Given the description of an element on the screen output the (x, y) to click on. 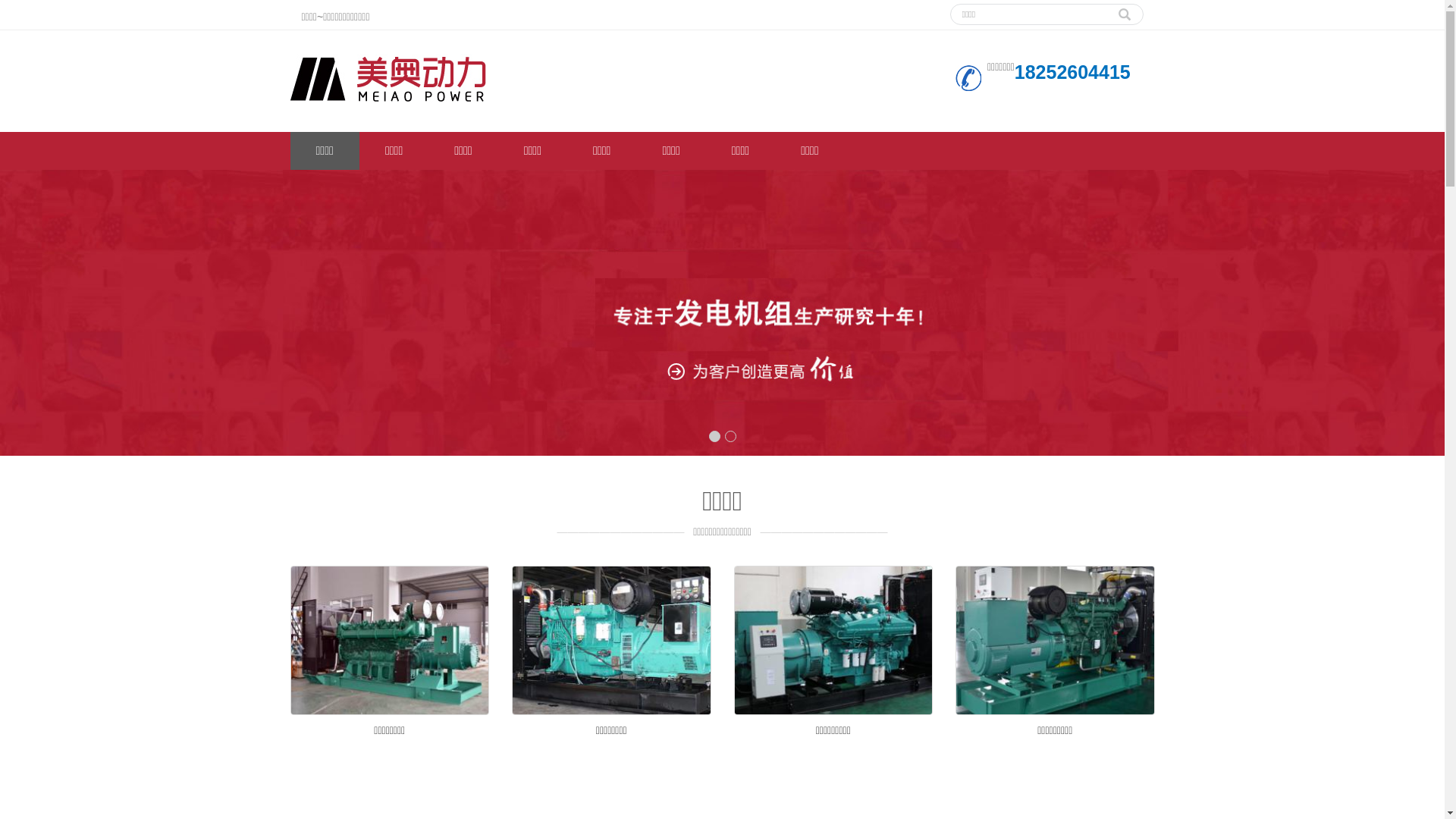
2 Element type: text (730, 436)
1 Element type: text (713, 436)
